Given the description of an element on the screen output the (x, y) to click on. 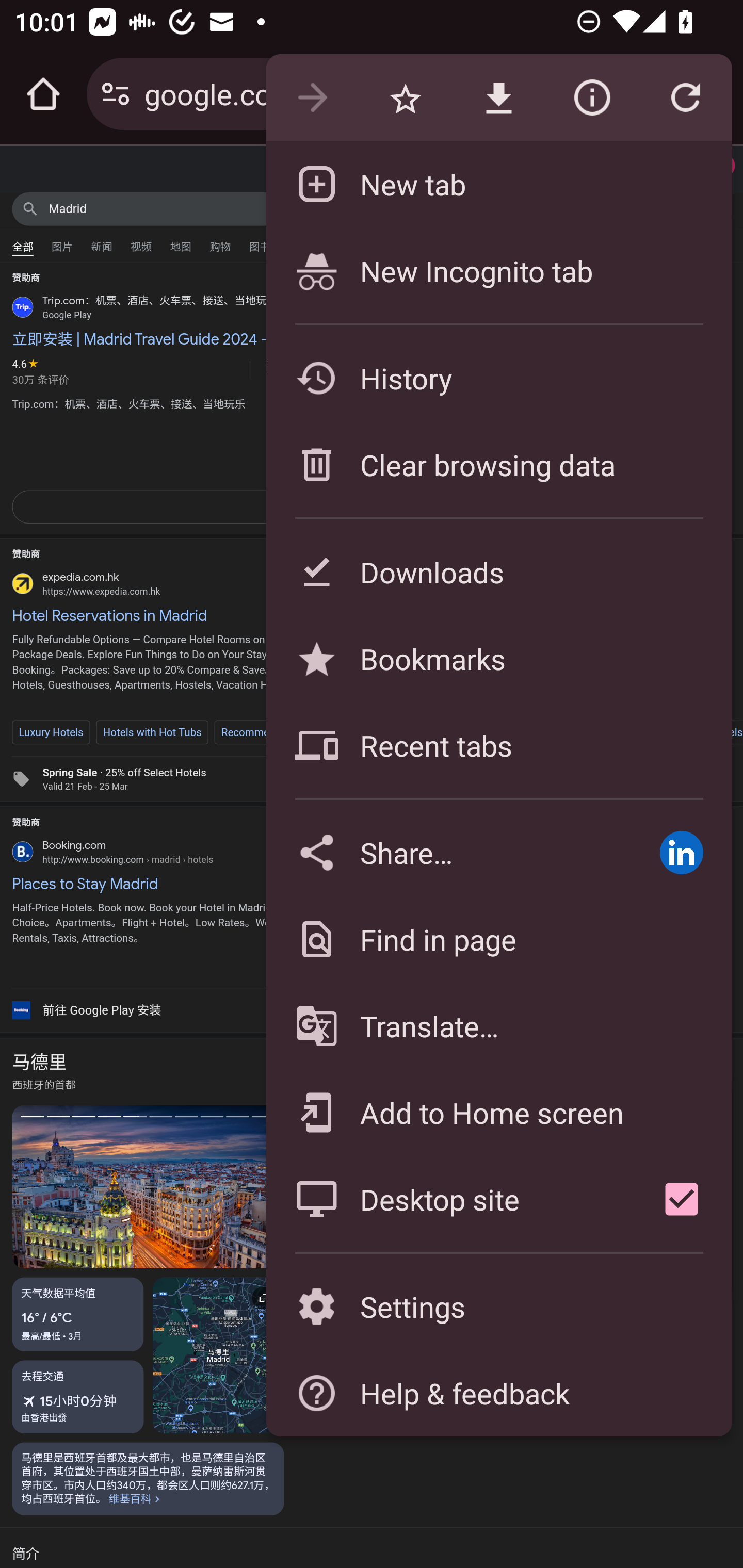
Forward (311, 97)
Bookmark (404, 97)
Download (498, 97)
Page info (591, 97)
Refresh (684, 97)
New tab (498, 184)
New Incognito tab (498, 270)
History (498, 377)
Clear browsing data (498, 464)
Downloads (498, 571)
Bookmarks (498, 658)
Recent tabs (498, 745)
Share… (447, 852)
Share via Share in a post (680, 852)
Find in page (498, 939)
Translate… (498, 1026)
Add to Home screen (498, 1112)
Desktop site Turn off Request desktop site (447, 1198)
Settings (498, 1306)
Help & feedback (498, 1393)
